Given the description of an element on the screen output the (x, y) to click on. 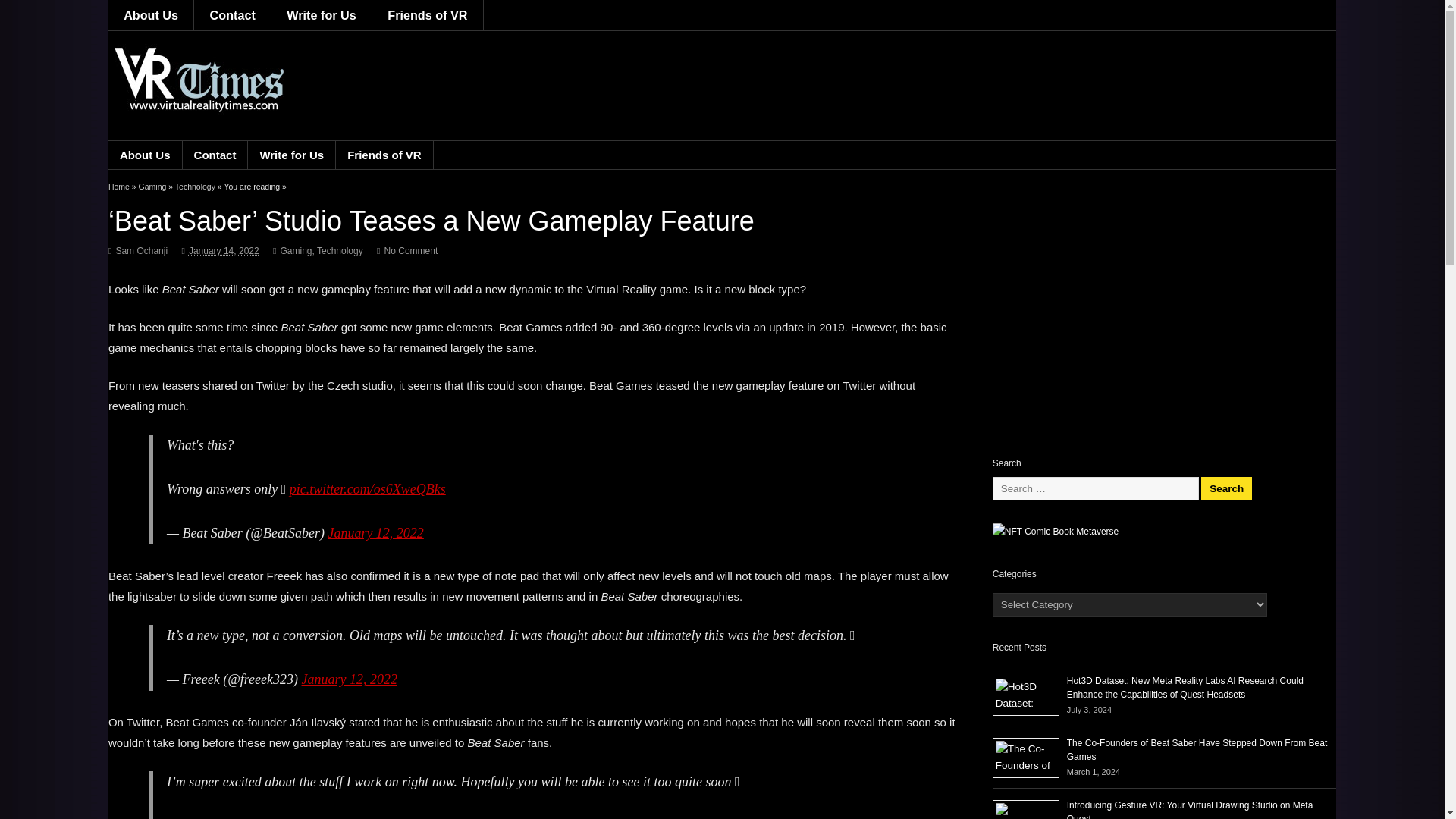
Contact (231, 15)
Search (1226, 488)
Search (1226, 488)
About Us (150, 15)
Friends of VR (427, 15)
Write for Us (321, 15)
Posts by Sam Ochanji (141, 250)
Search for: (1095, 487)
